Given the description of an element on the screen output the (x, y) to click on. 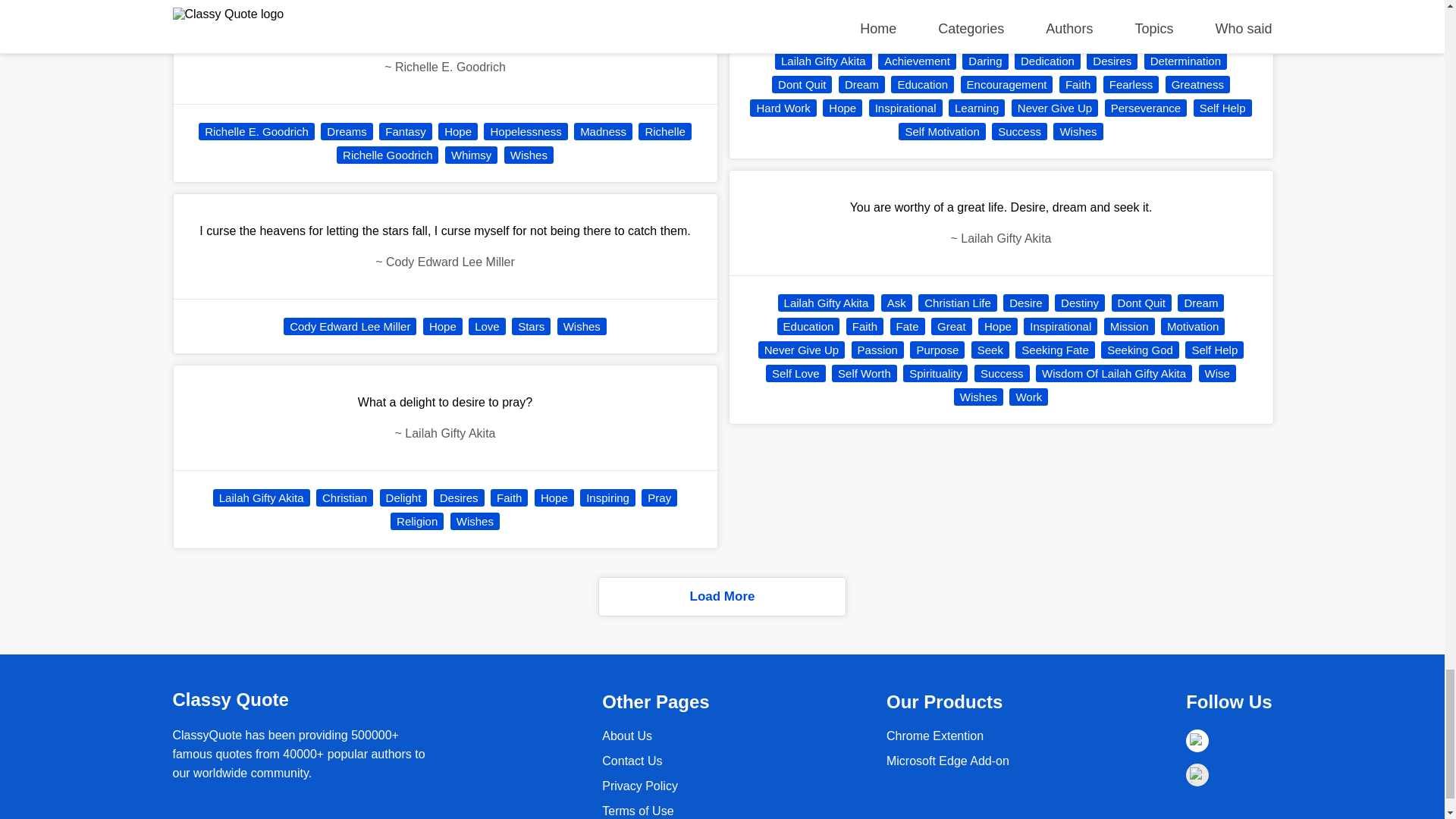
Instagram coming soon (1197, 774)
Chrome Extention (947, 760)
Facebook (1197, 740)
Chrome Extention (935, 735)
